Given the description of an element on the screen output the (x, y) to click on. 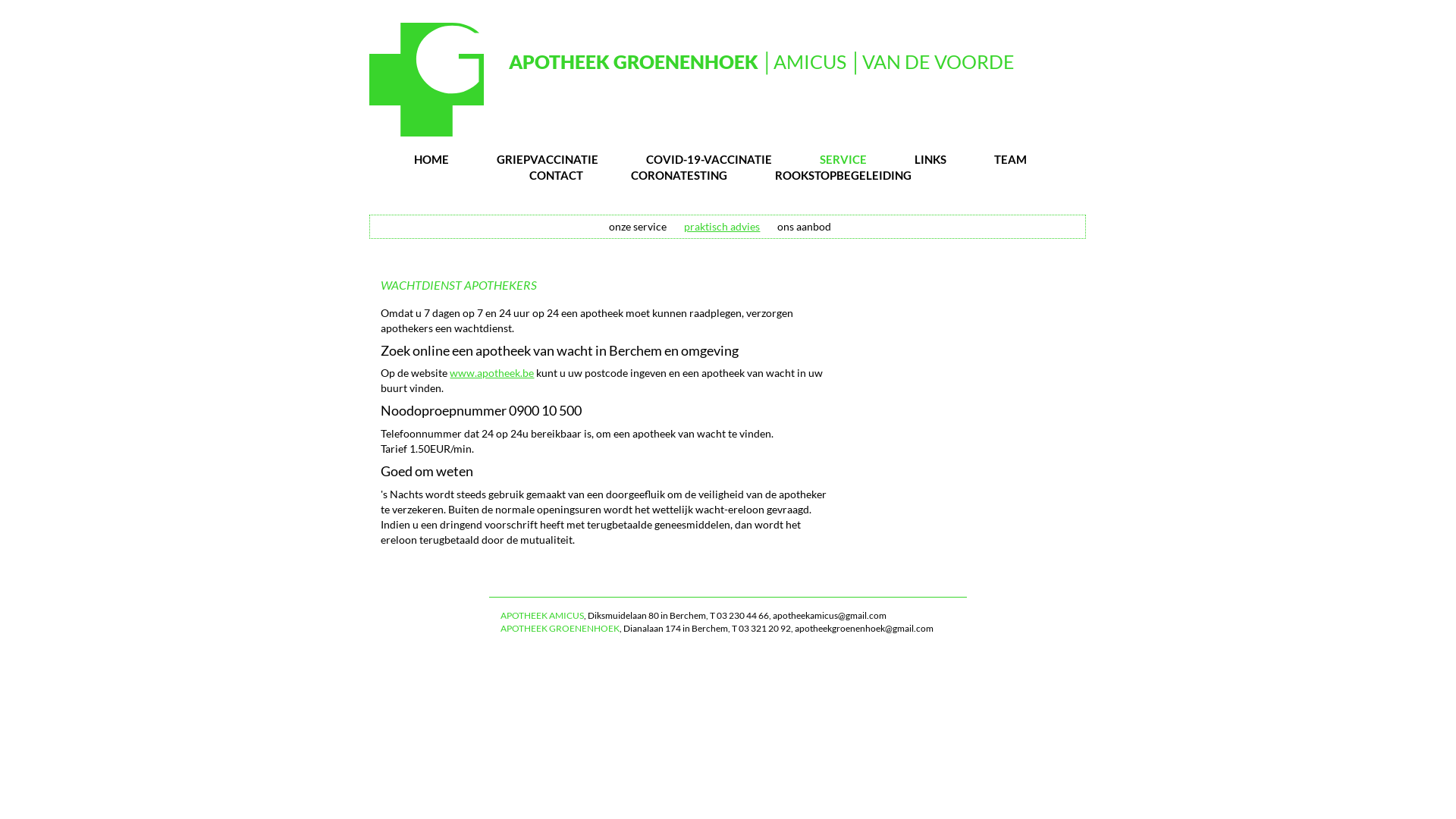
praktisch advies Element type: text (721, 225)
HOME Element type: text (431, 159)
www.apotheek.be Element type: text (491, 372)
CONTACT Element type: text (556, 175)
onze service Element type: text (637, 225)
SERVICE Element type: text (842, 159)
apotheekgroenenhoek@gmail.com Element type: text (863, 627)
LINKS Element type: text (930, 159)
ons aanbod Element type: text (804, 225)
GRIEPVACCINATIE Element type: text (547, 159)
CORONATESTING Element type: text (678, 175)
COVID-19-VACCINATIE Element type: text (708, 159)
apotheekamicus@gmail.com Element type: text (829, 615)
TEAM Element type: text (1010, 159)
ROOKSTOPBEGELEIDING Element type: text (843, 175)
